Given the description of an element on the screen output the (x, y) to click on. 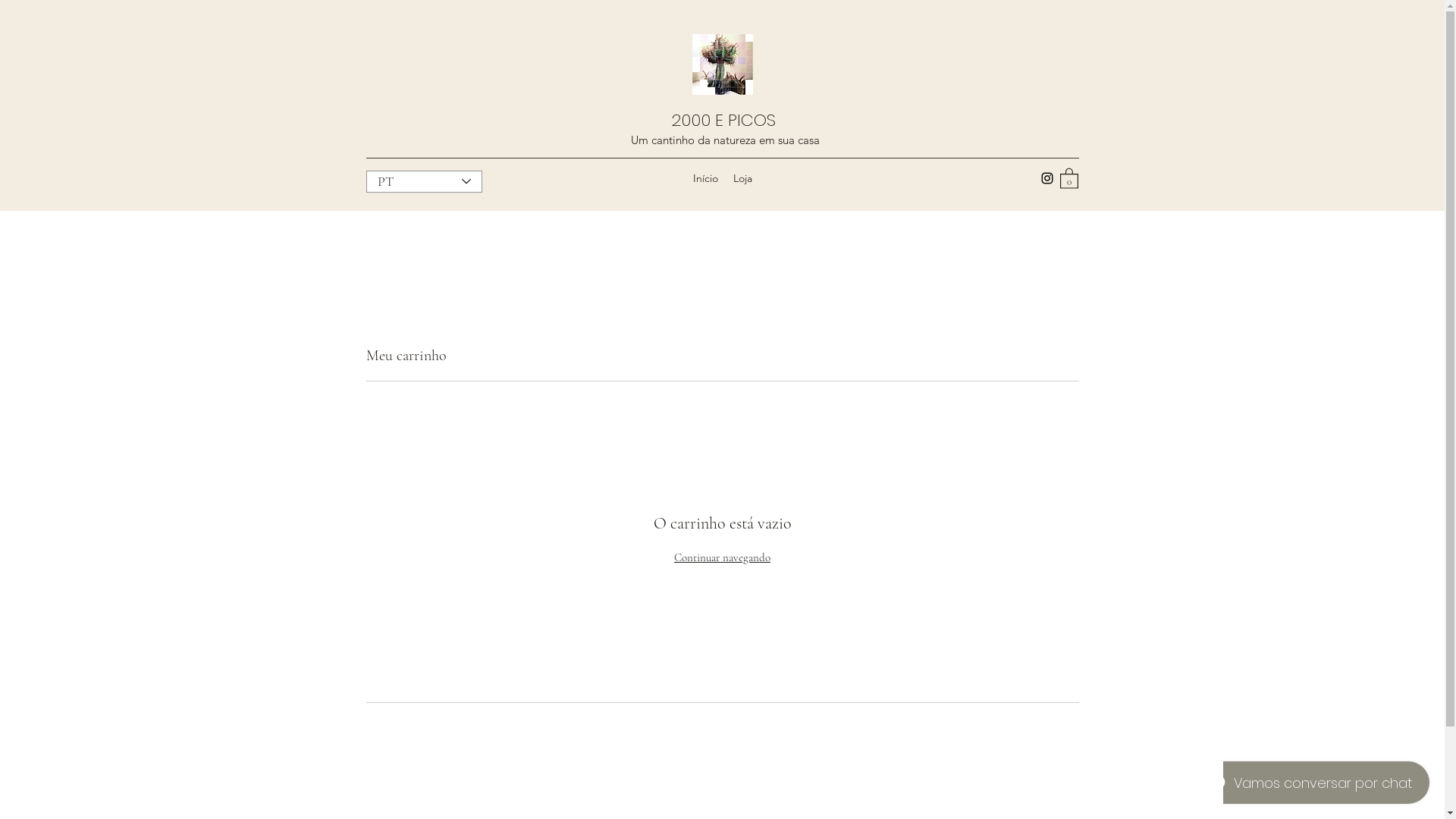
Loja Element type: text (741, 177)
2000 E PICOS Element type: text (723, 119)
0 Element type: text (1069, 177)
Continuar navegando Element type: text (722, 557)
